Given the description of an element on the screen output the (x, y) to click on. 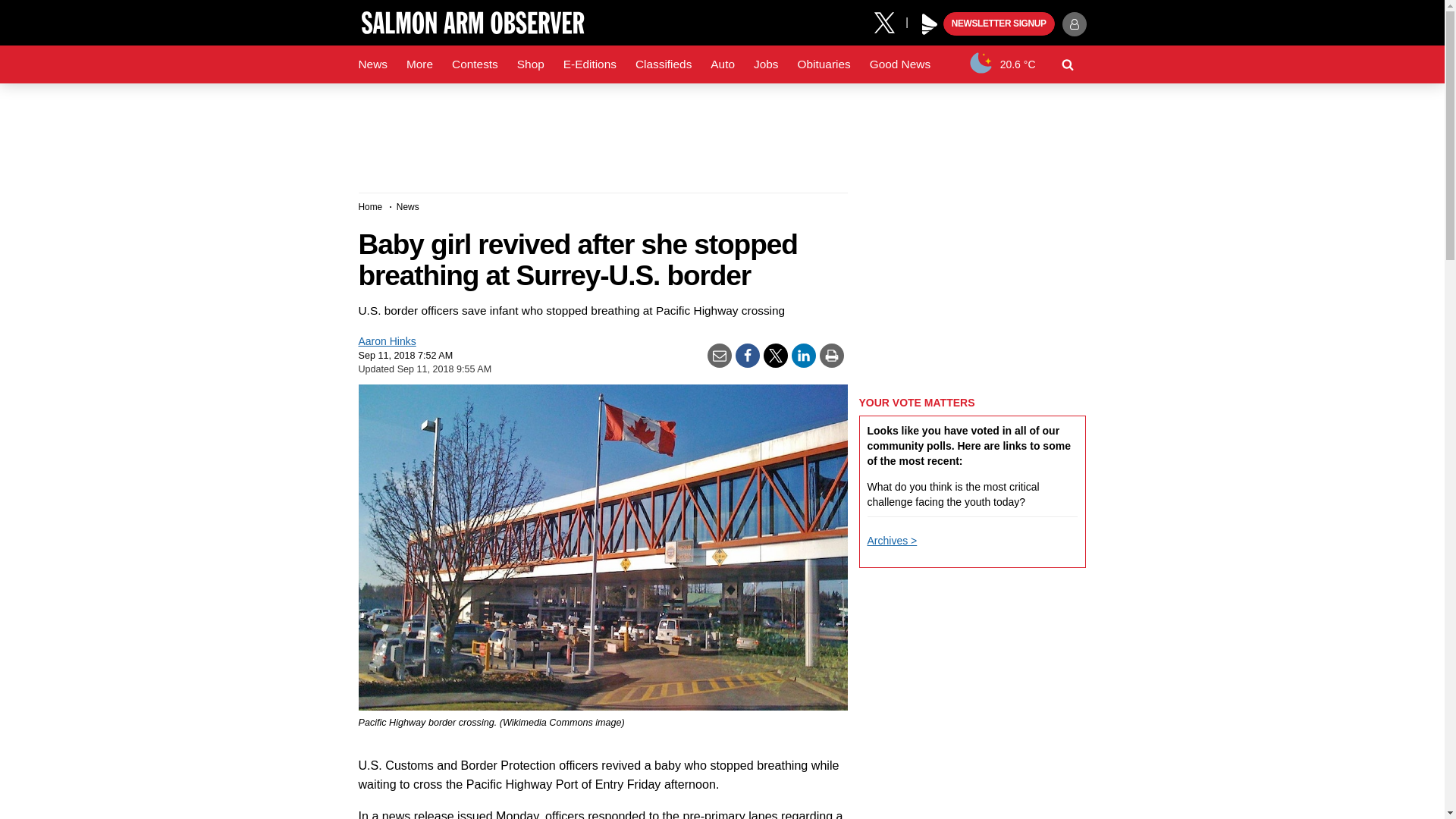
Play (929, 24)
Black Press Media (929, 24)
NEWSLETTER SIGNUP (998, 24)
News (372, 64)
X (889, 21)
